Given the description of an element on the screen output the (x, y) to click on. 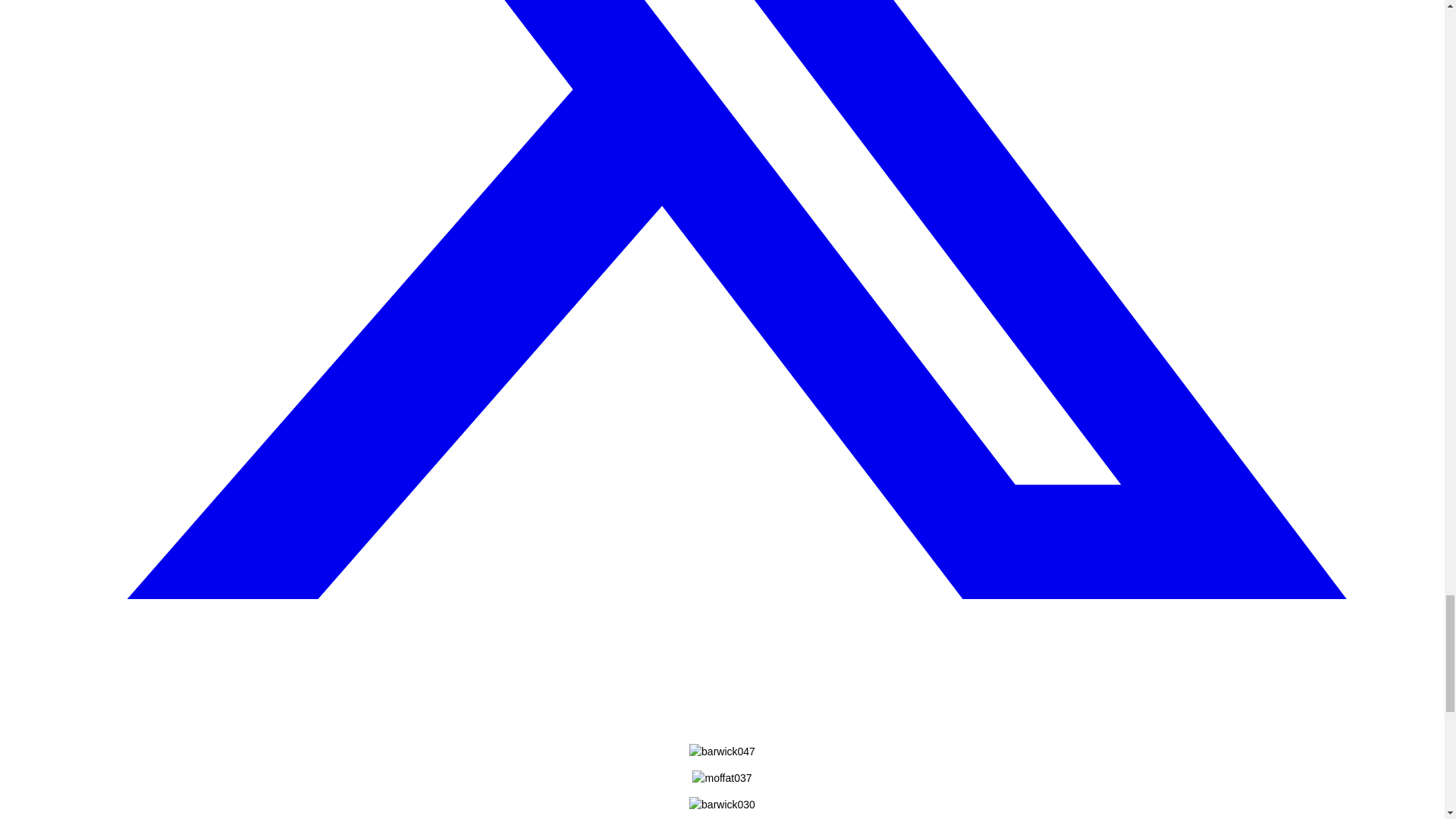
barwick047 (721, 751)
barwick030 (721, 804)
moffat037 (722, 778)
